Given the description of an element on the screen output the (x, y) to click on. 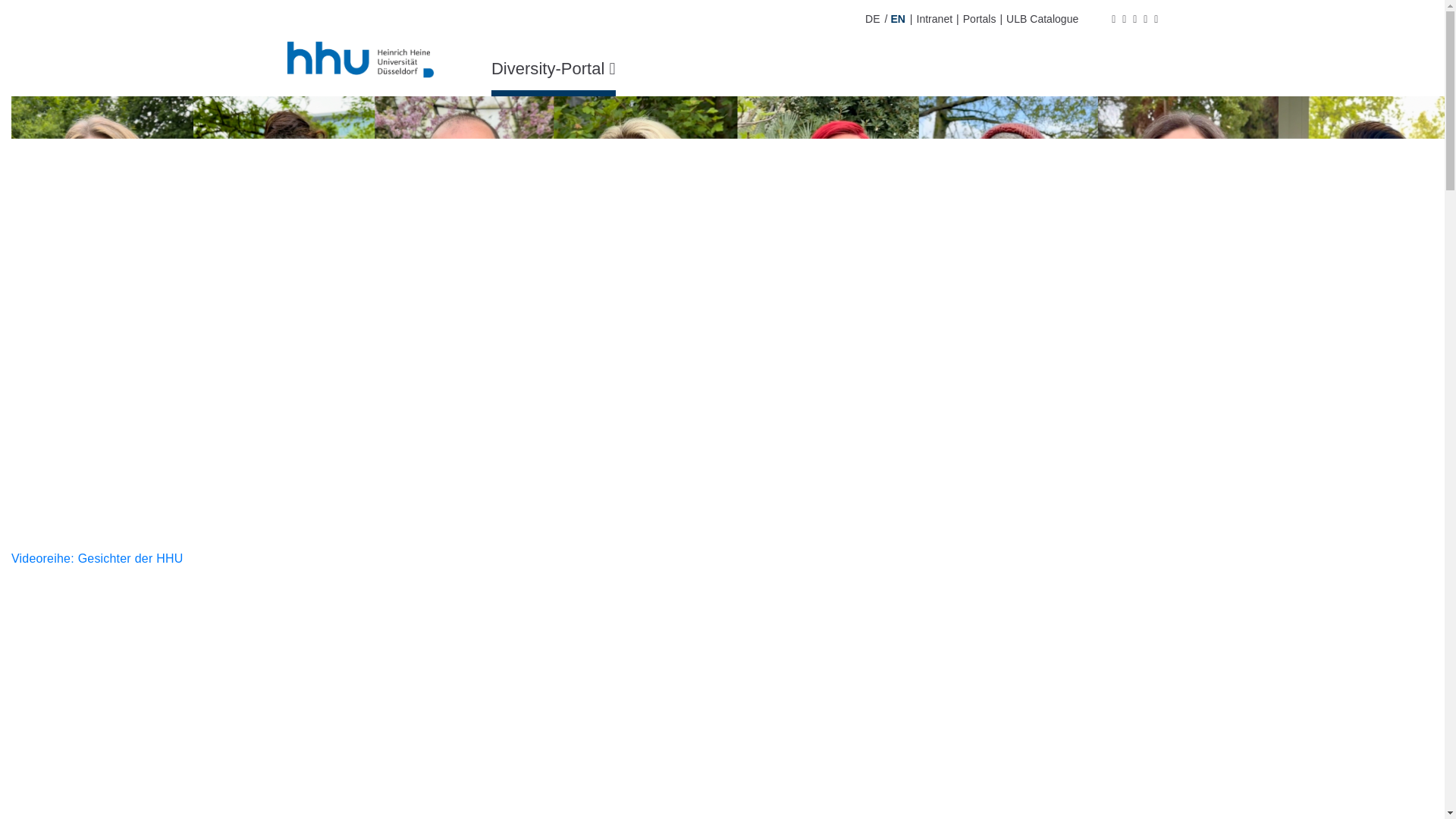
ULB Catalogue (1042, 19)
DE (871, 19)
Intranet (934, 19)
Portals (979, 19)
Portals (979, 19)
Intranet (934, 19)
ULB Catalogue (1042, 19)
